Given the description of an element on the screen output the (x, y) to click on. 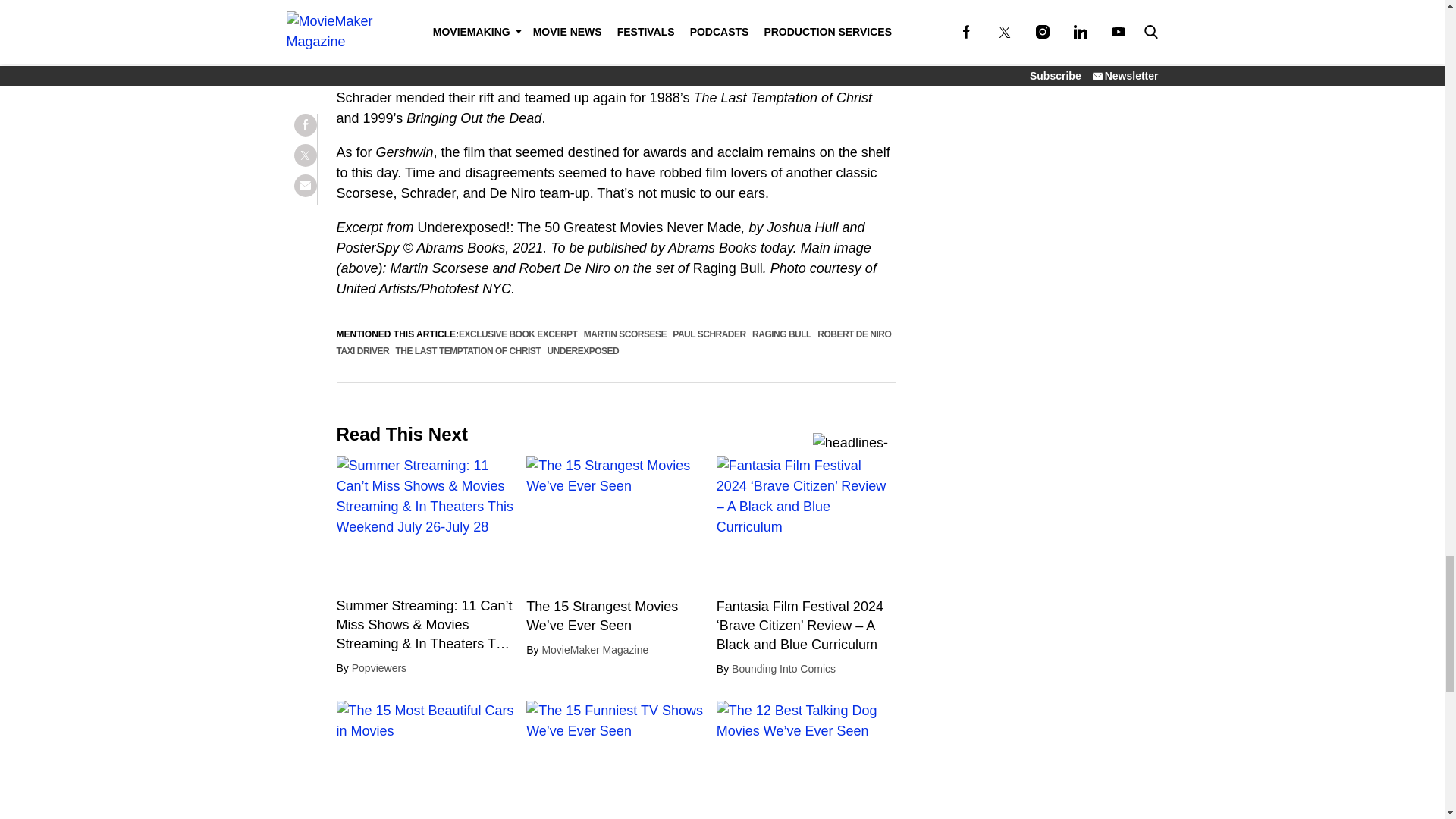
TAXI DRIVER (363, 350)
PAUL SCHRADER (708, 334)
ROBERT DE NIRO (853, 334)
RAGING BULL (781, 334)
EXCLUSIVE BOOK EXCERPT (517, 334)
MARTIN SCORSESE (624, 334)
